Given the description of an element on the screen output the (x, y) to click on. 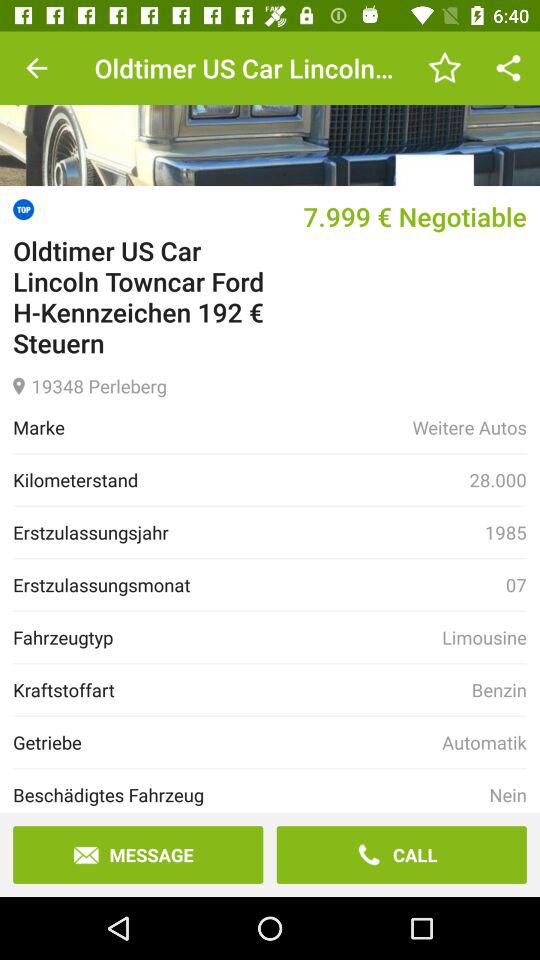
turn off item next to oldtimer us car (36, 68)
